Given the description of an element on the screen output the (x, y) to click on. 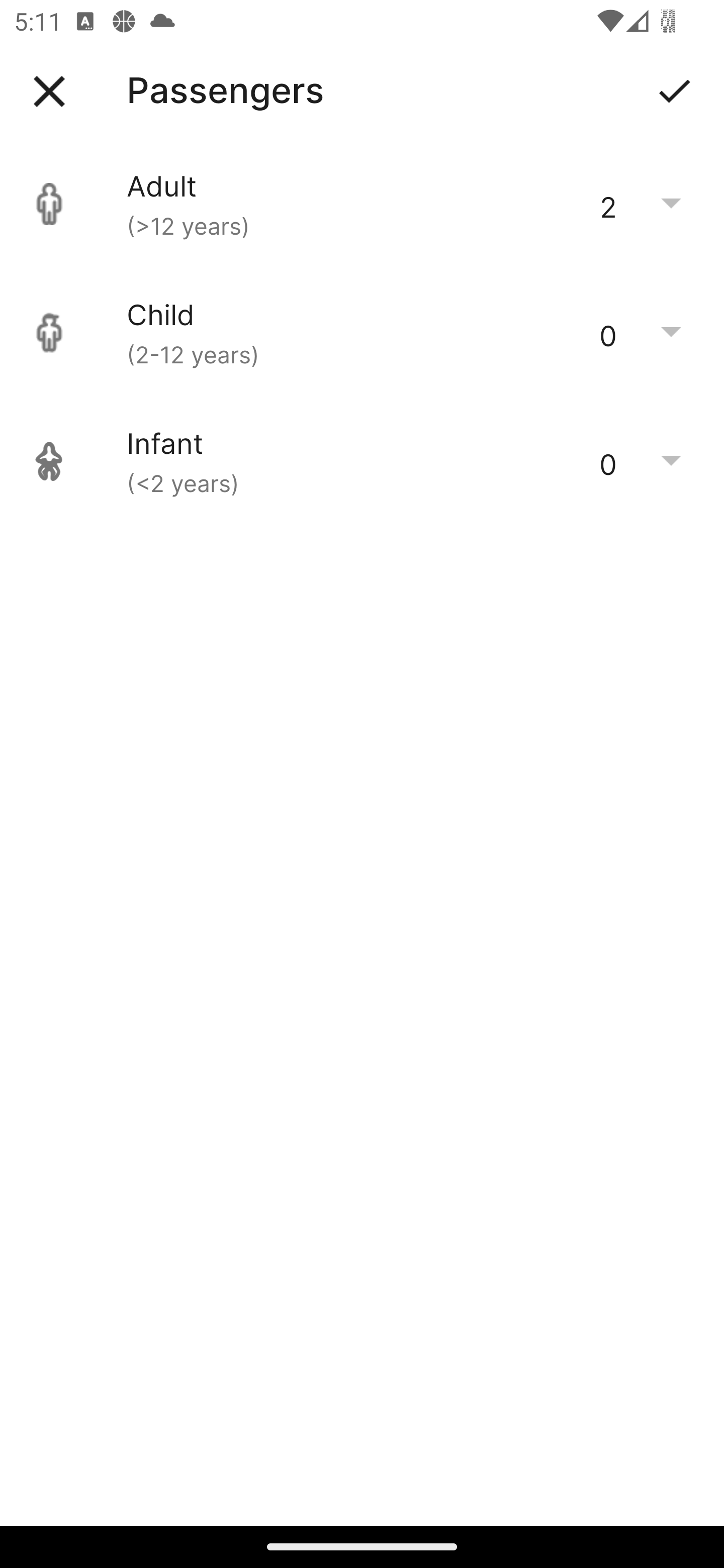
Adult (>12 years) 2 (362, 204)
Child (2-12 years) 0 (362, 332)
Infant (<2 years) 0 (362, 461)
